Given the description of an element on the screen output the (x, y) to click on. 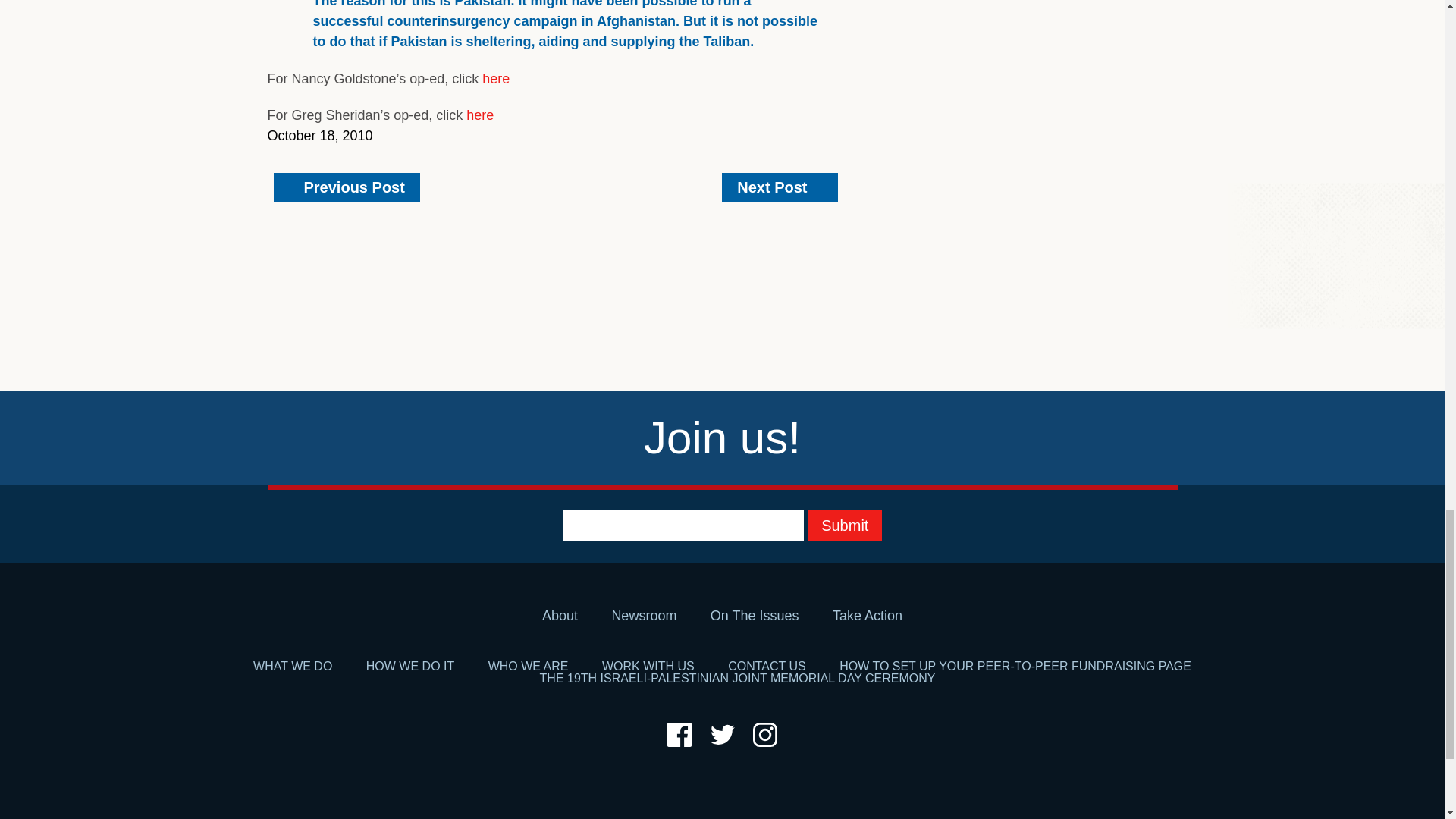
Next Post (779, 186)
Previous Post (346, 186)
Submit (845, 525)
Take Action (867, 615)
Newsroom (644, 615)
here (495, 78)
here (479, 114)
On The Issues (754, 615)
About (559, 615)
